Given the description of an element on the screen output the (x, y) to click on. 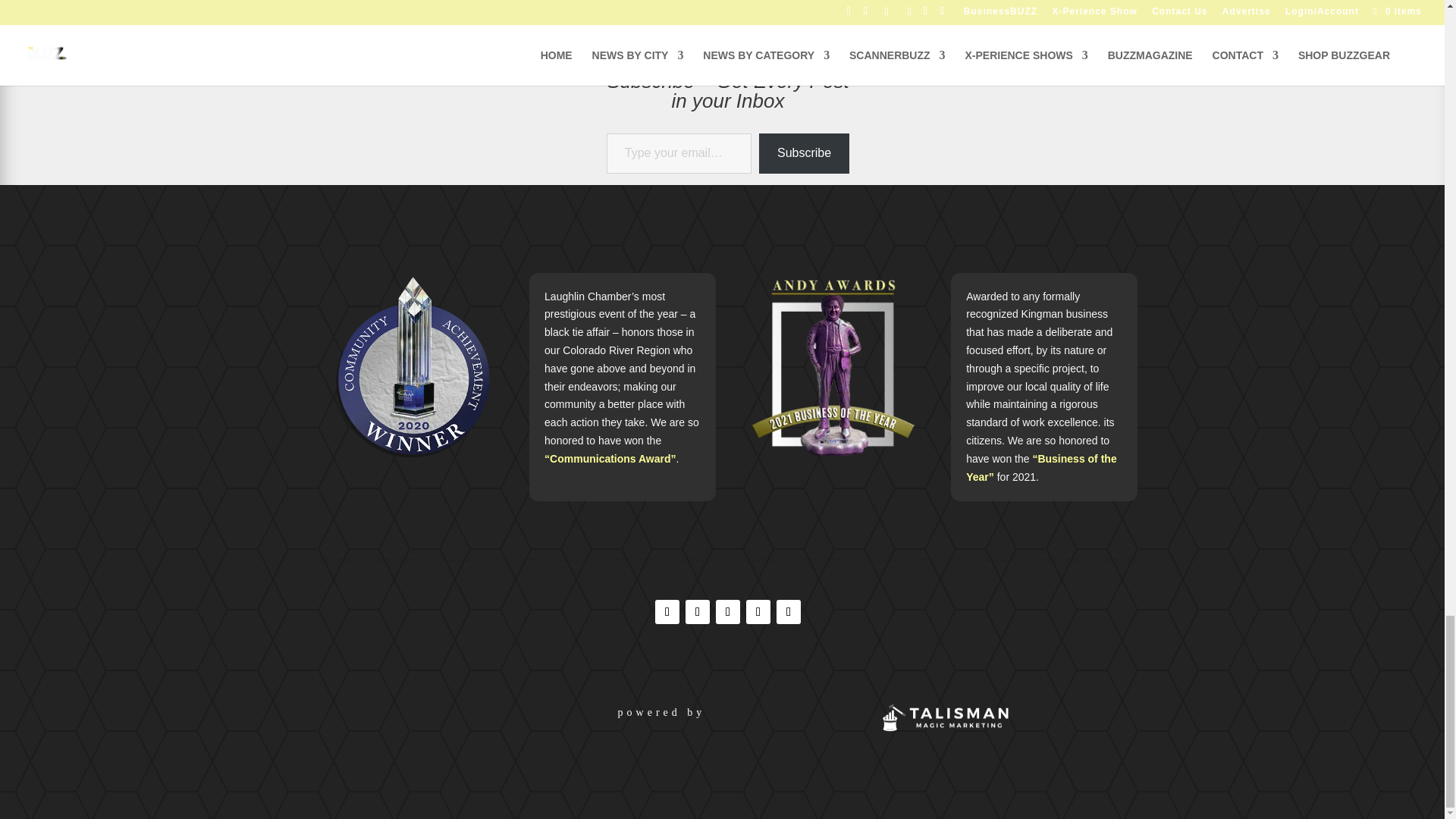
Follow on X (757, 611)
Follow on Instagram (697, 611)
Communtiy acheivement Award 400x (411, 365)
Follow on Facebook (667, 611)
Please fill in this field. (679, 153)
2021 Andy Awards - Business of the Year 2 copy (832, 366)
Talisman Consulting - Magic Marketing copy- Horizontal (943, 717)
Follow on TikTok (727, 611)
Follow on Youtube (788, 611)
